Given the description of an element on the screen output the (x, y) to click on. 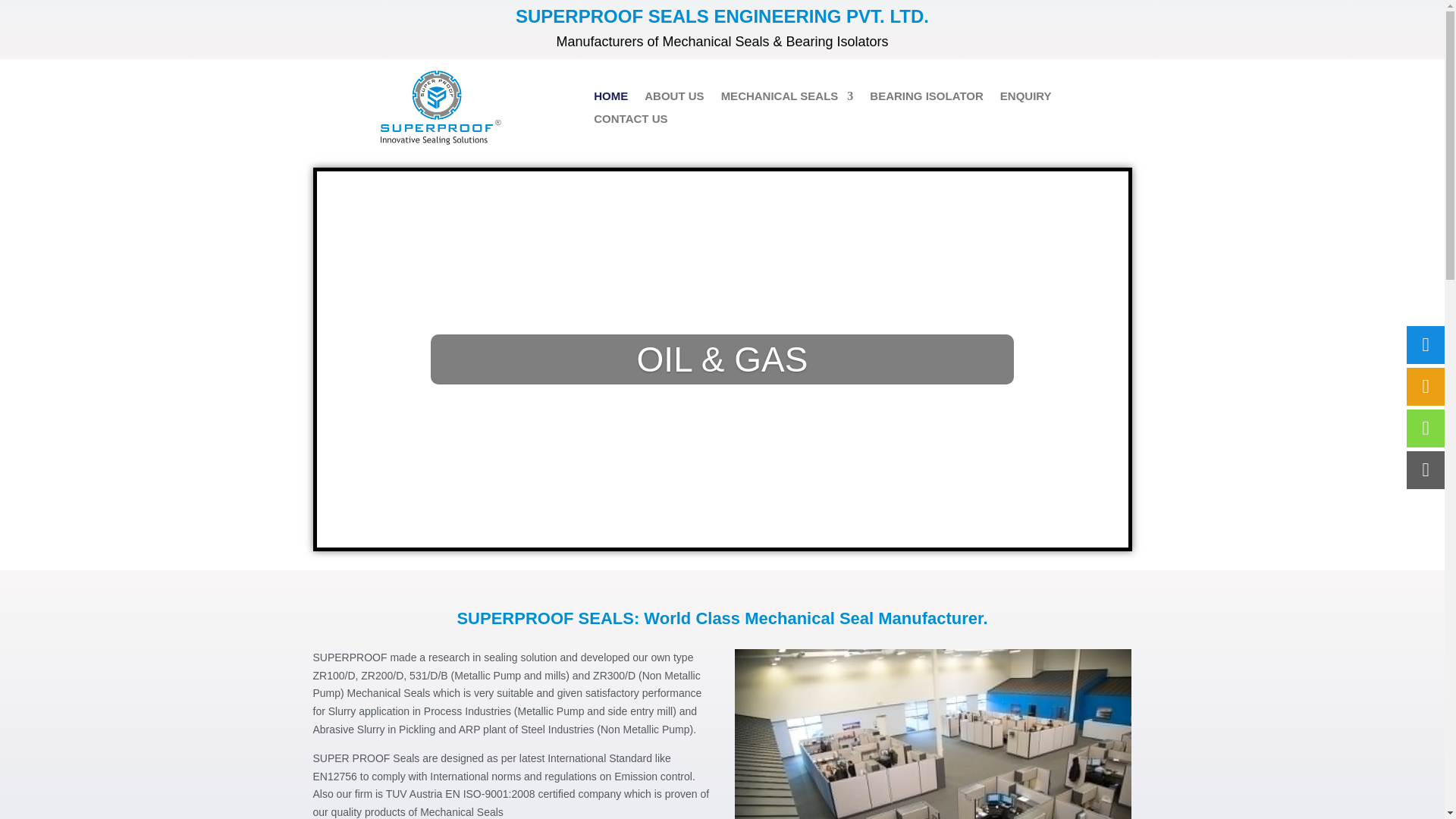
ABOUT US (674, 98)
SPS LOGO (440, 107)
office (933, 734)
HOME (610, 98)
MECHANICAL SEALS (786, 98)
